Given the description of an element on the screen output the (x, y) to click on. 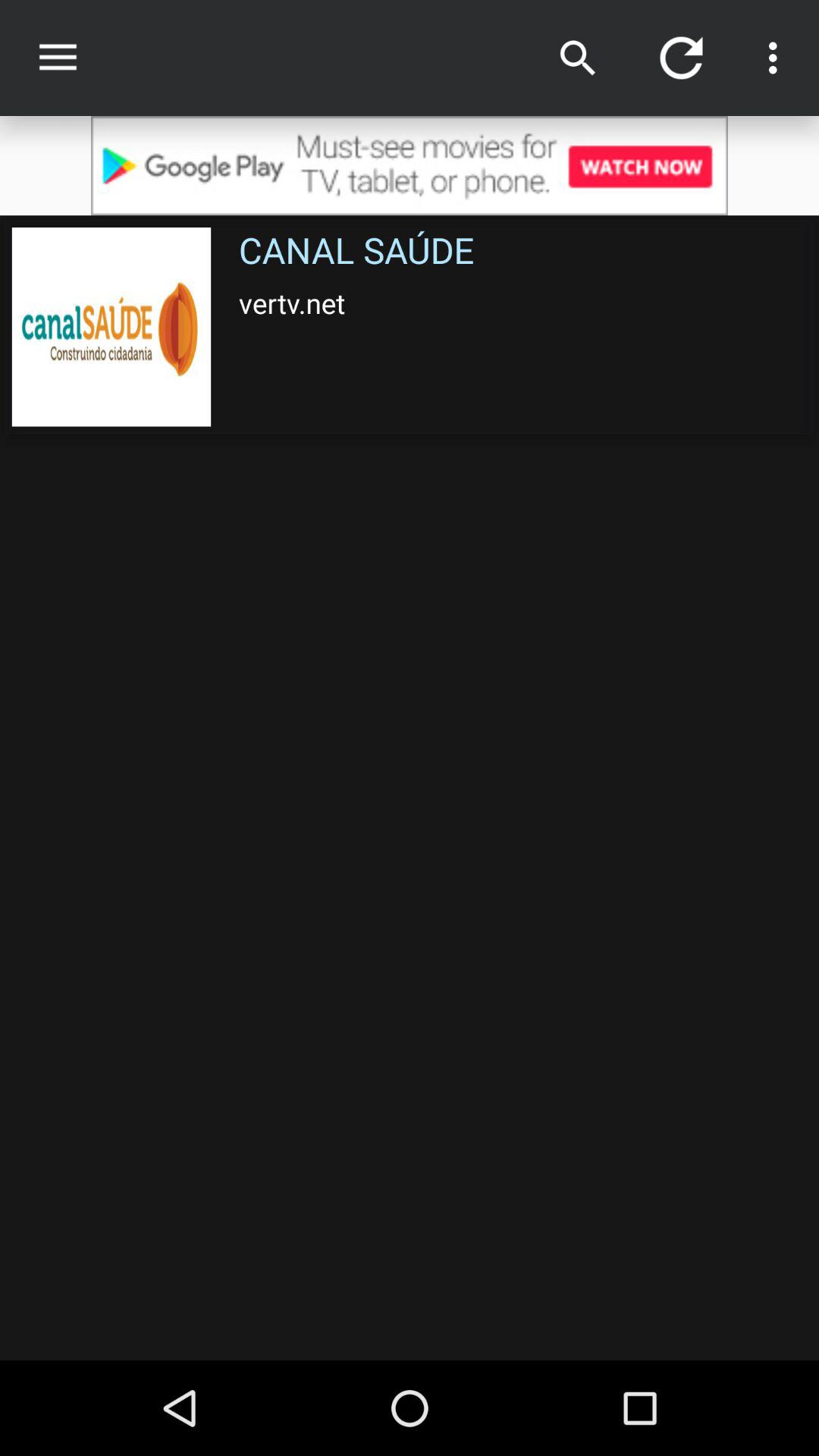
open advertisements website (409, 165)
